Given the description of an element on the screen output the (x, y) to click on. 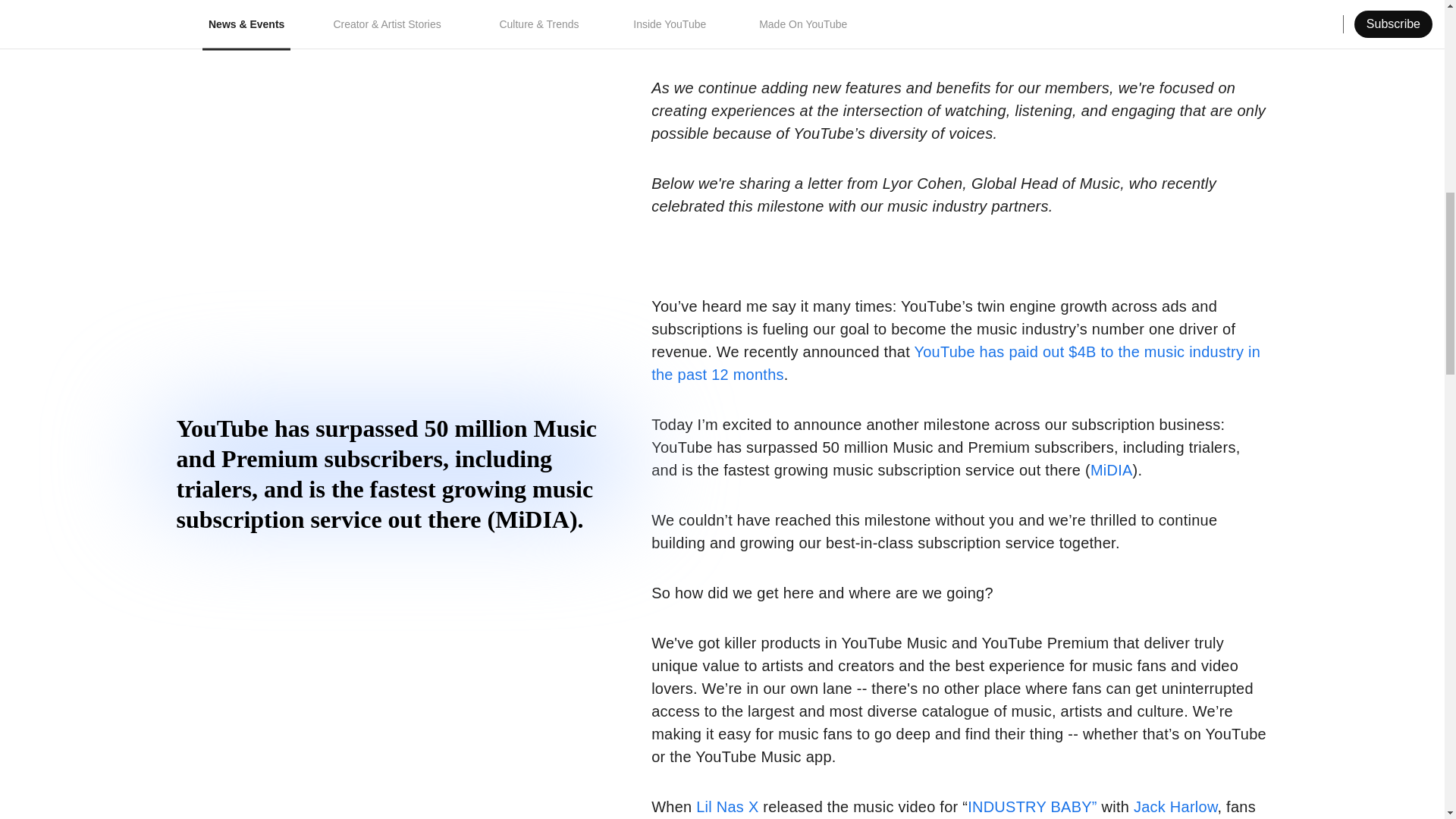
Jack Harlow (1175, 806)
Lil Nas X (726, 806)
YouTube's monetization (944, 14)
MiDIA (1111, 469)
